Given the description of an element on the screen output the (x, y) to click on. 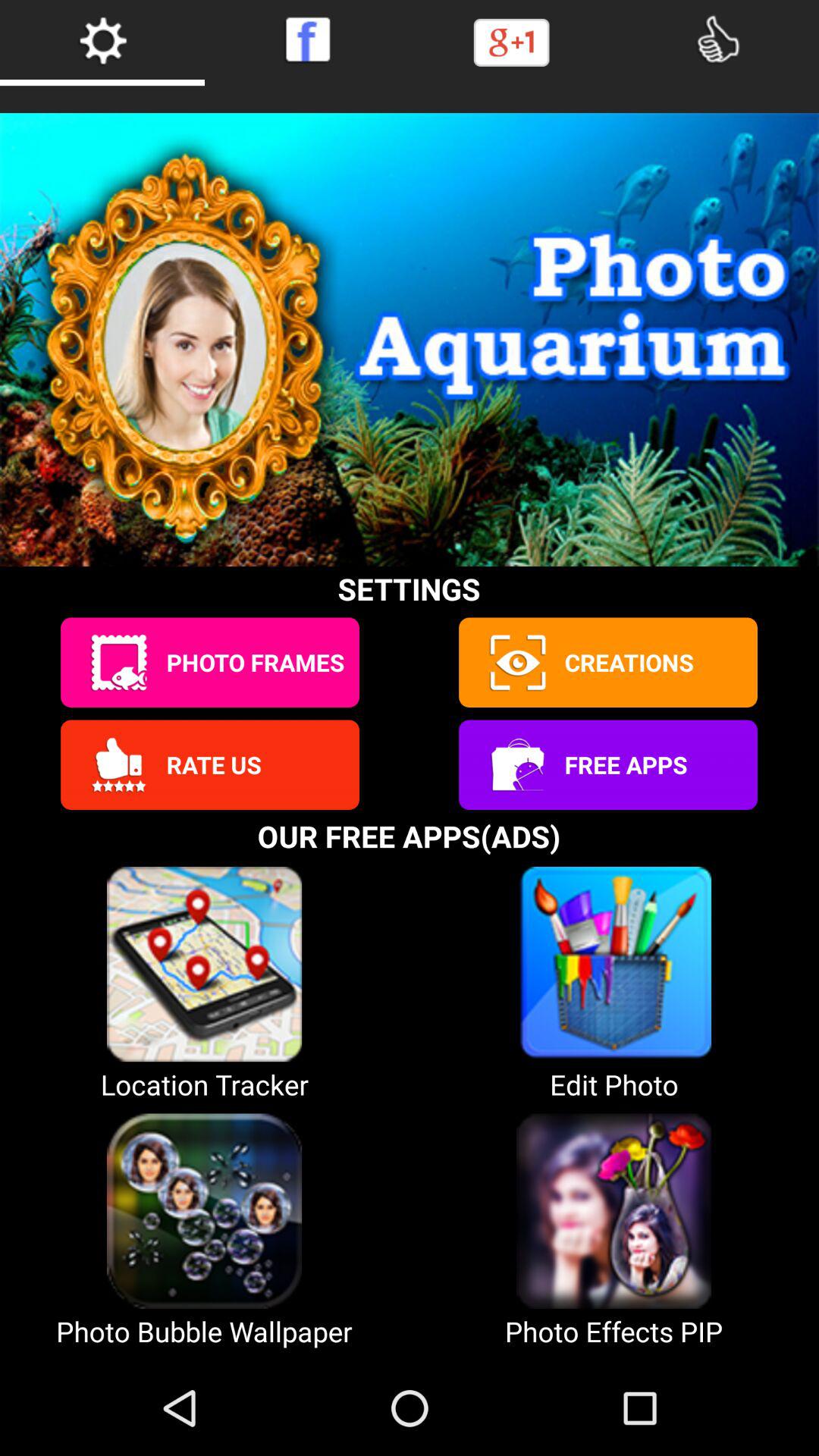
edit photo (118, 662)
